Given the description of an element on the screen output the (x, y) to click on. 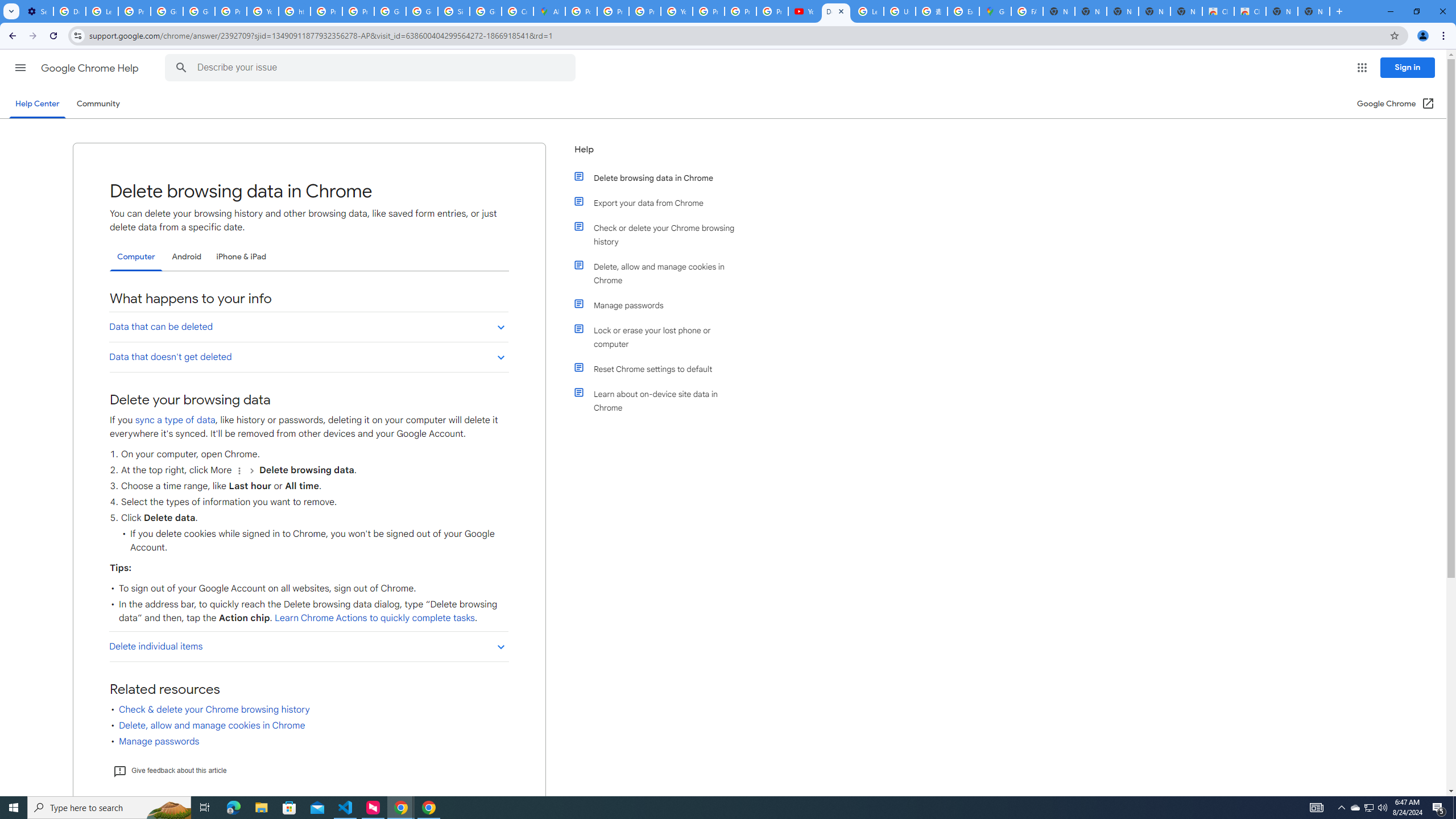
Data that doesn't get deleted (308, 356)
Google Chrome (Open in a new window) (1395, 103)
Android (186, 256)
sync a type of data (175, 419)
Settings - On startup (37, 11)
Classic Blue - Chrome Web Store (1249, 11)
Delete browsing data in Chrome (661, 177)
Privacy Help Center - Policies Help (644, 11)
